Given the description of an element on the screen output the (x, y) to click on. 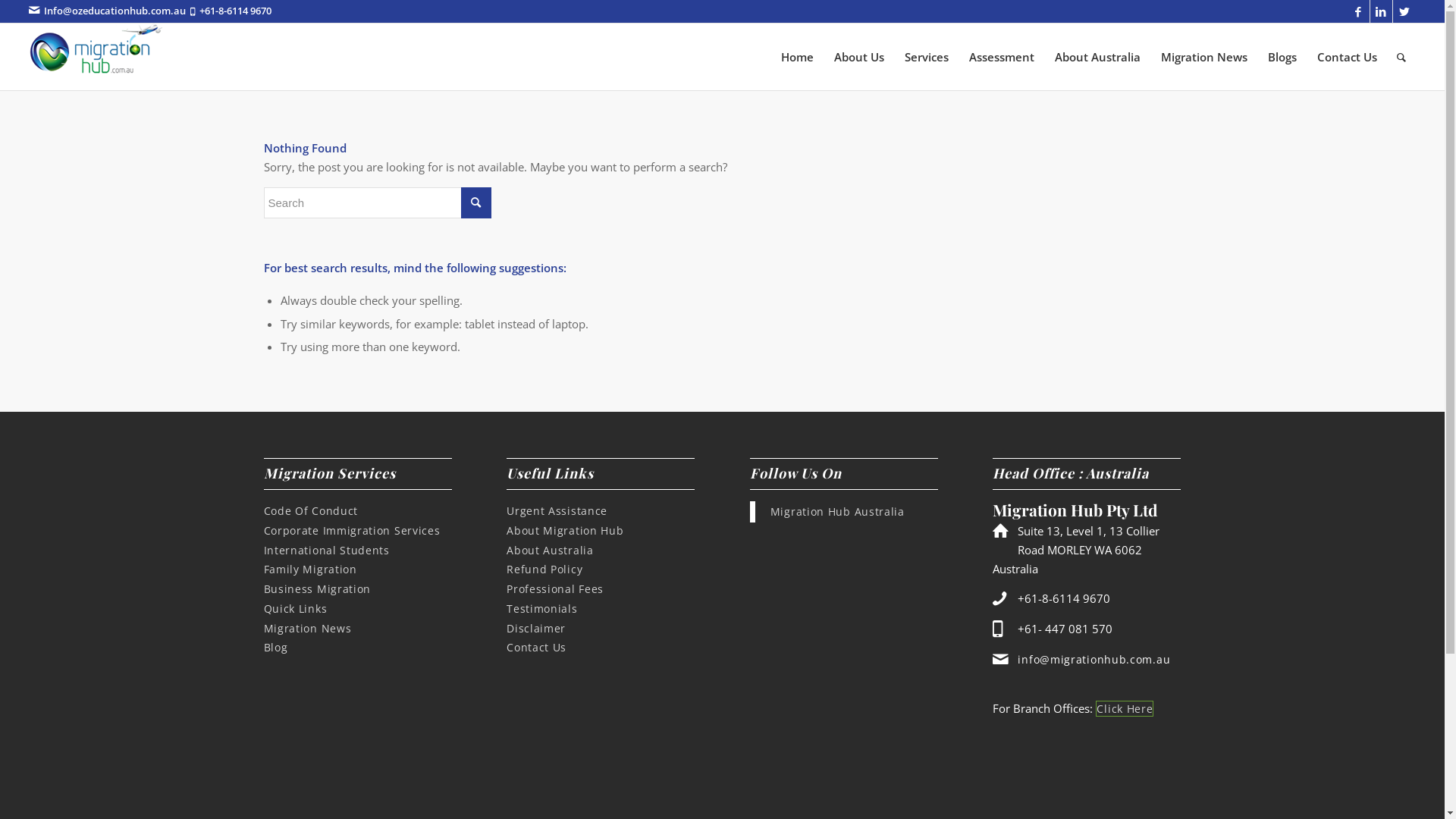
info@migrationhub.com.au Element type: text (1093, 659)
Contact Us Element type: text (1346, 56)
+61-8-6114 9670 Element type: text (235, 10)
Testimonials Element type: text (541, 608)
Disclaimer Element type: text (535, 628)
About Australia Element type: text (549, 549)
About Australia Element type: text (1097, 56)
Business Migration Element type: text (317, 588)
Assessment Element type: text (1001, 56)
Blog Element type: text (275, 647)
Urgent Assistance Element type: text (556, 510)
About Us Element type: text (858, 56)
Corporate Immigration Services Element type: text (351, 530)
Migration News Element type: text (307, 628)
Contact Us Element type: text (536, 647)
Code Of Conduct Element type: text (310, 510)
Refund Policy Element type: text (544, 568)
Migration Hub Australia Element type: text (837, 511)
Home Element type: text (797, 56)
Professional Fees Element type: text (554, 588)
Services Element type: text (926, 56)
About Migration Hub Element type: text (564, 530)
Blogs Element type: text (1281, 56)
Click Here Element type: text (1124, 708)
Twitter Element type: hover (1404, 11)
logo Element type: hover (96, 49)
LinkedIn Element type: hover (1381, 11)
Facebook Element type: hover (1358, 11)
Info@ozeducationhub.com.au Element type: text (114, 10)
Migration News Element type: text (1203, 56)
Quick Links Element type: text (295, 608)
International Students Element type: text (326, 549)
Family Migration Element type: text (310, 568)
